Given the description of an element on the screen output the (x, y) to click on. 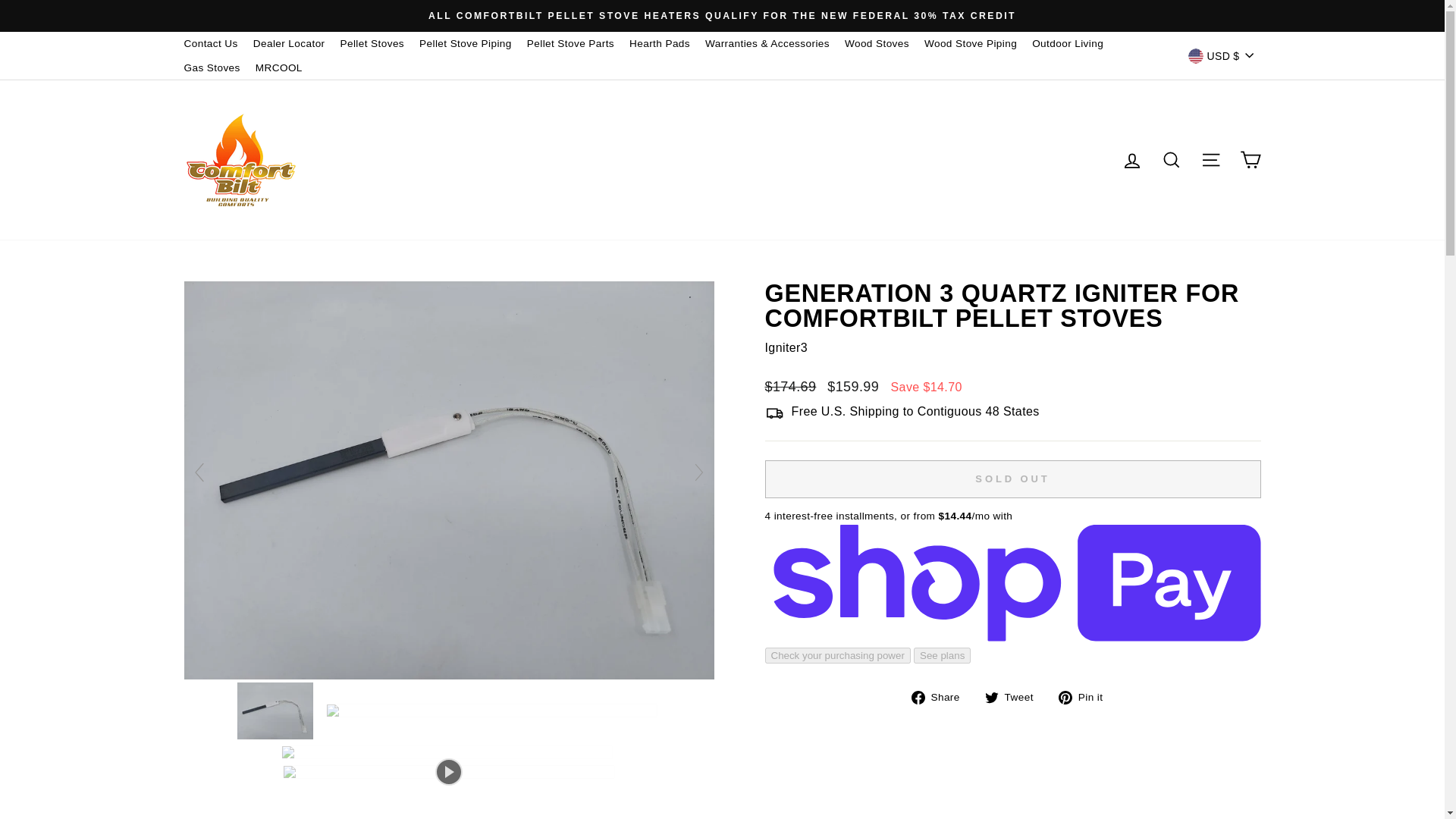
Generation 3 Quartz Igniter for Comfortbilt Pellet Stoves (493, 710)
Pin on Pinterest (1085, 696)
Generation 3 Quartz Igniter for Comfortbilt Pellet Stoves (448, 752)
Tweet on Twitter (1015, 696)
Generation 3 Quartz Igniter for Comfortbilt Pellet Stoves (448, 675)
Generation 3 Quartz Igniter for Comfortbilt Pellet Stoves (277, 710)
Share on Facebook (941, 696)
